Given the description of an element on the screen output the (x, y) to click on. 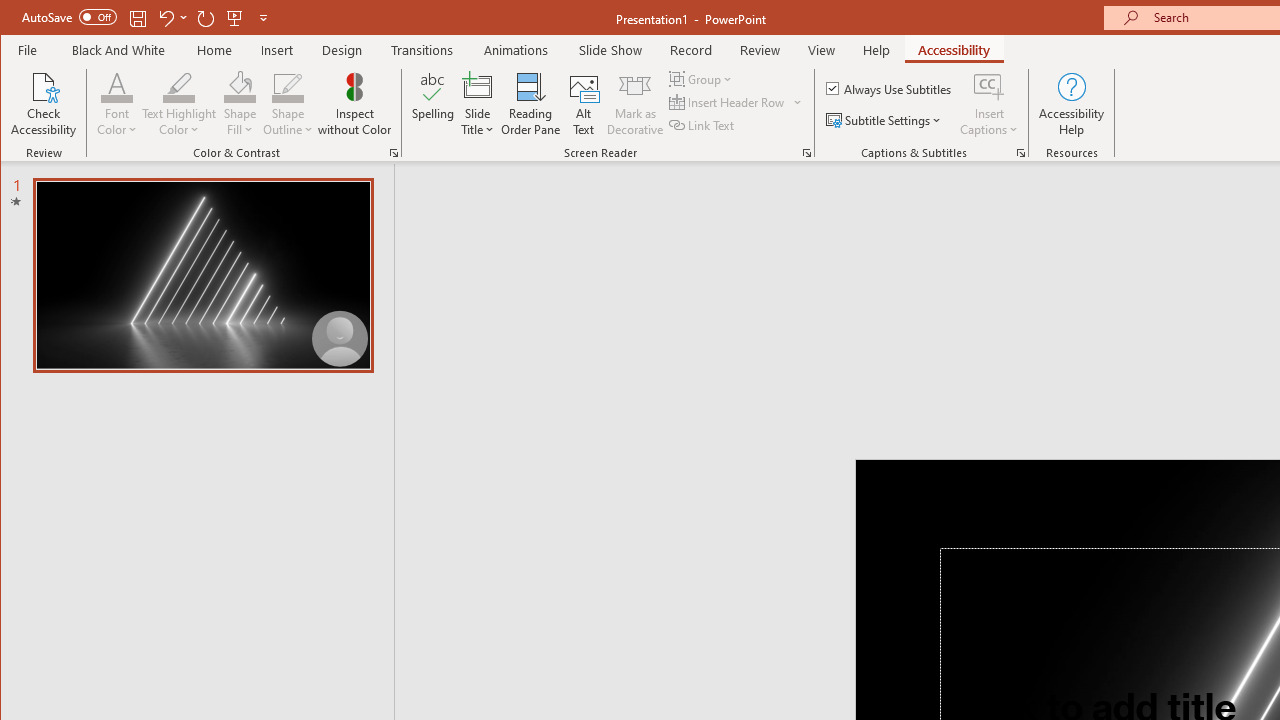
Accessibility Help (1071, 104)
Screen Reader (806, 152)
Link Text (703, 124)
